Given the description of an element on the screen output the (x, y) to click on. 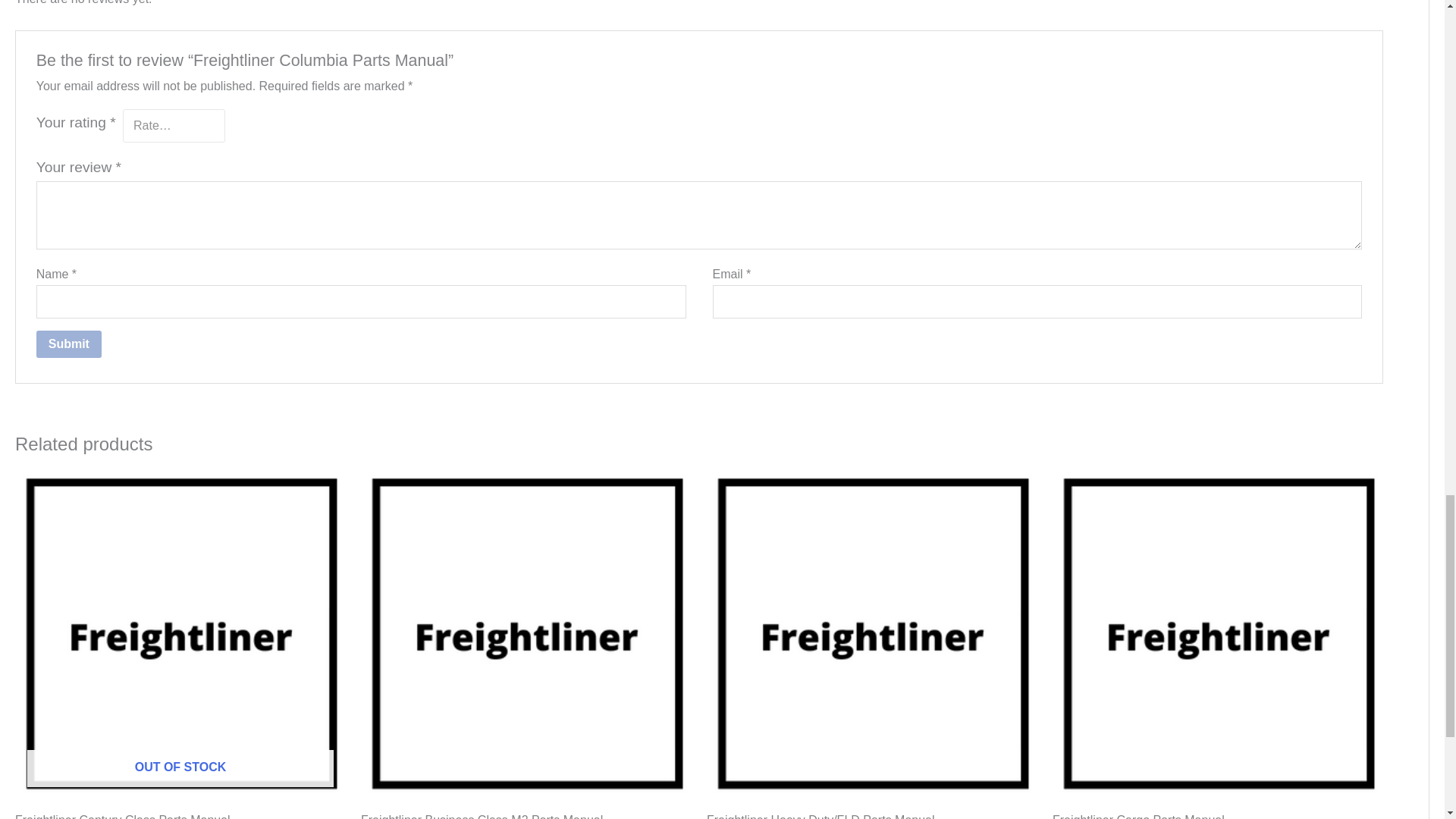
Freightliner Business Class M2 Parts Manual (526, 816)
OUT OF STOCK (180, 633)
Submit (68, 343)
Freightliner Century Class Parts Manual (180, 816)
Submit (68, 343)
Freightliner Cargo Parts Manual (1217, 816)
